Given the description of an element on the screen output the (x, y) to click on. 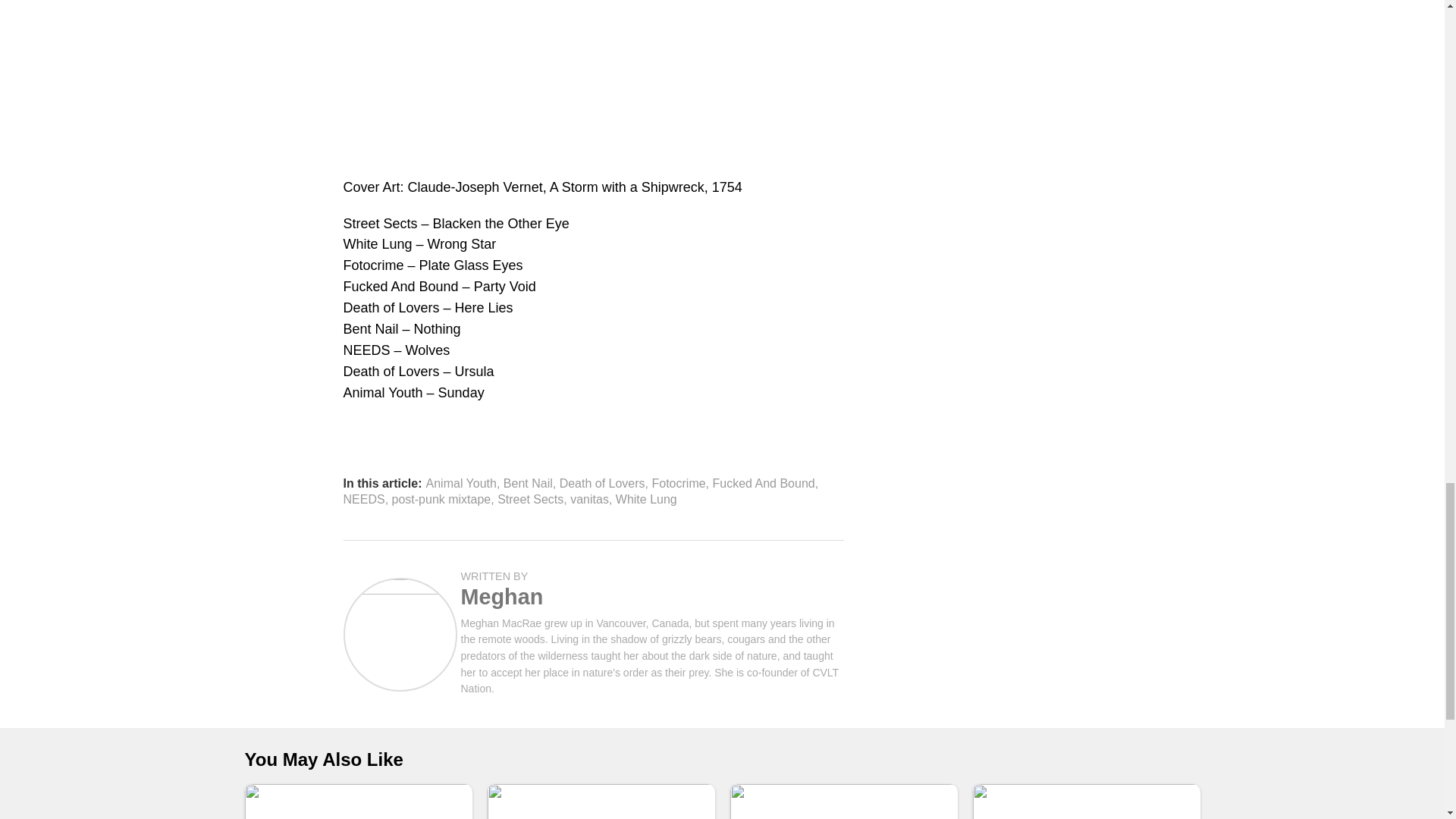
Posts by Meghan (502, 596)
